Given the description of an element on the screen output the (x, y) to click on. 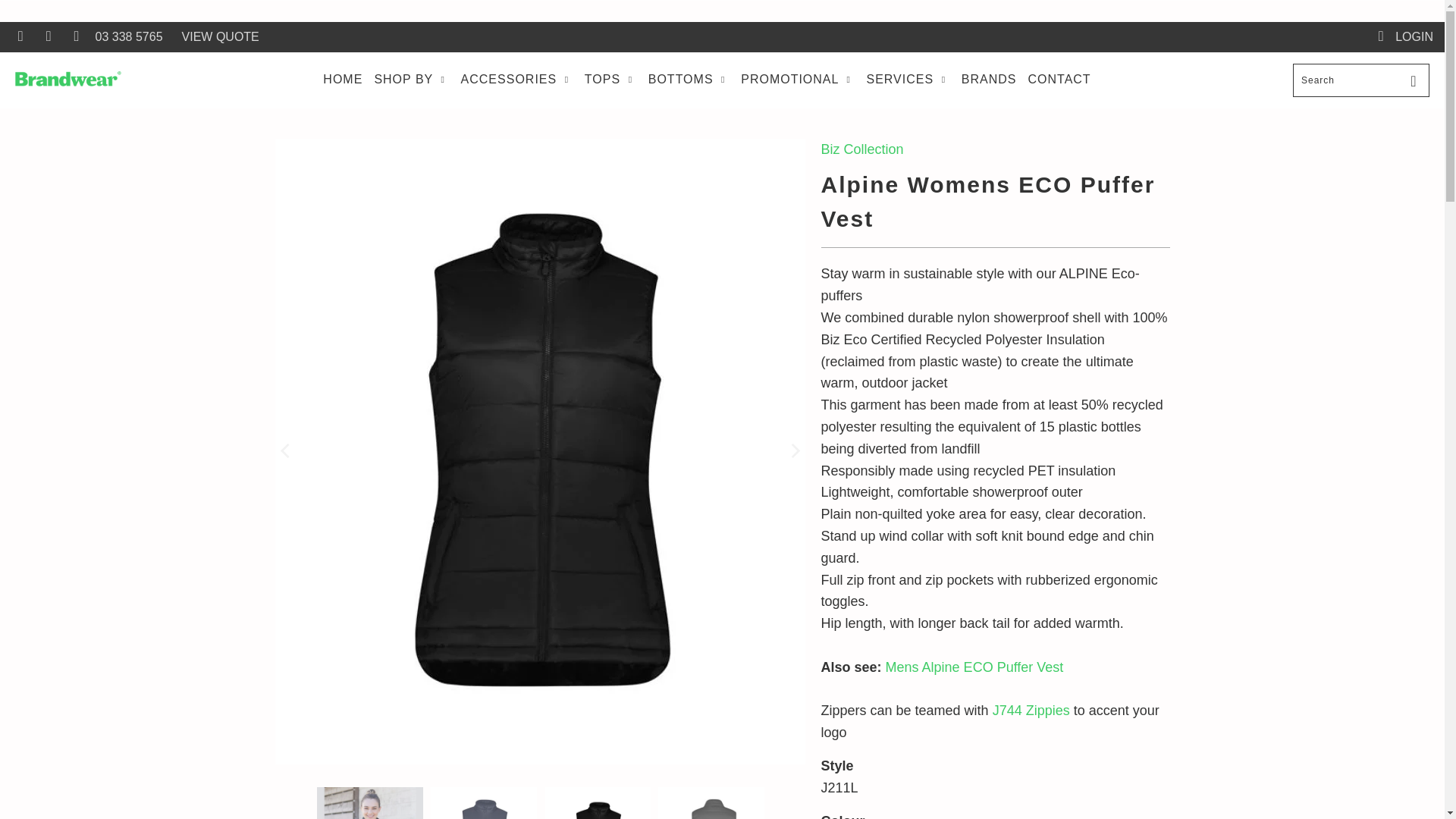
Biz Collection (861, 149)
My Account  (1404, 37)
